Given the description of an element on the screen output the (x, y) to click on. 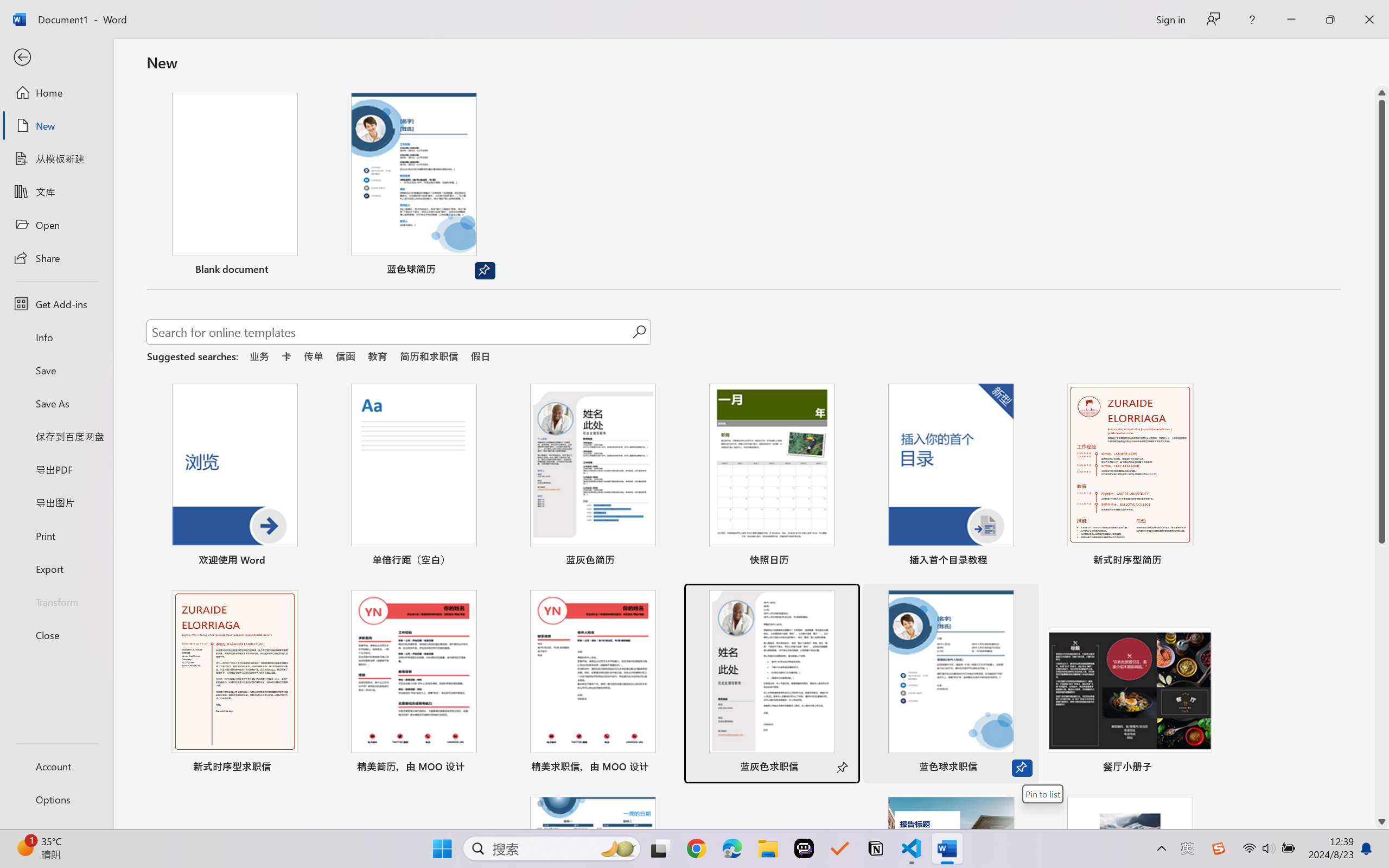
Pin to list (1042, 793)
Options (56, 798)
